Given the description of an element on the screen output the (x, y) to click on. 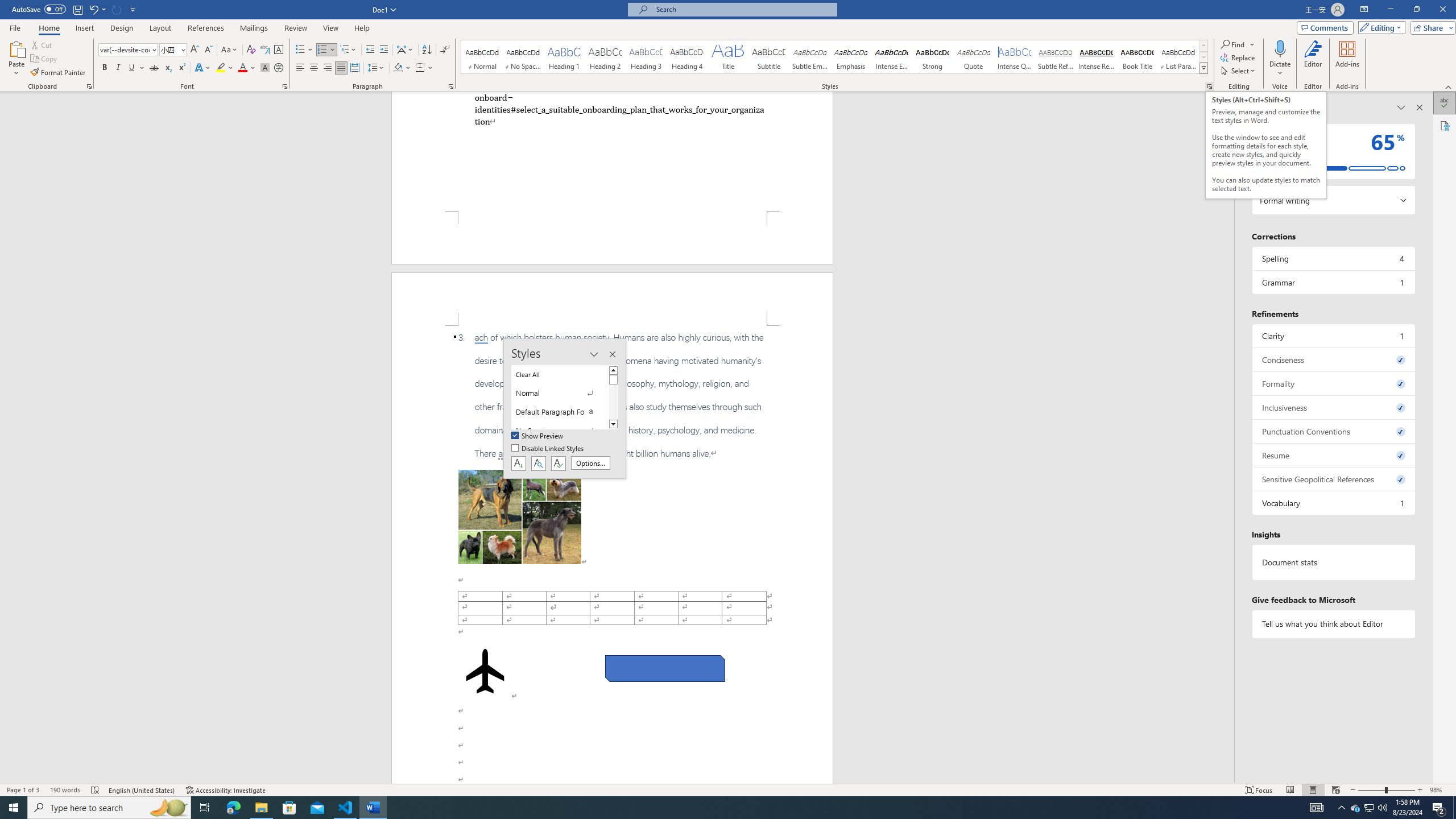
Document statistics (1333, 561)
Font Color Automatic (241, 67)
Shrink Font (208, 49)
